Given the description of an element on the screen output the (x, y) to click on. 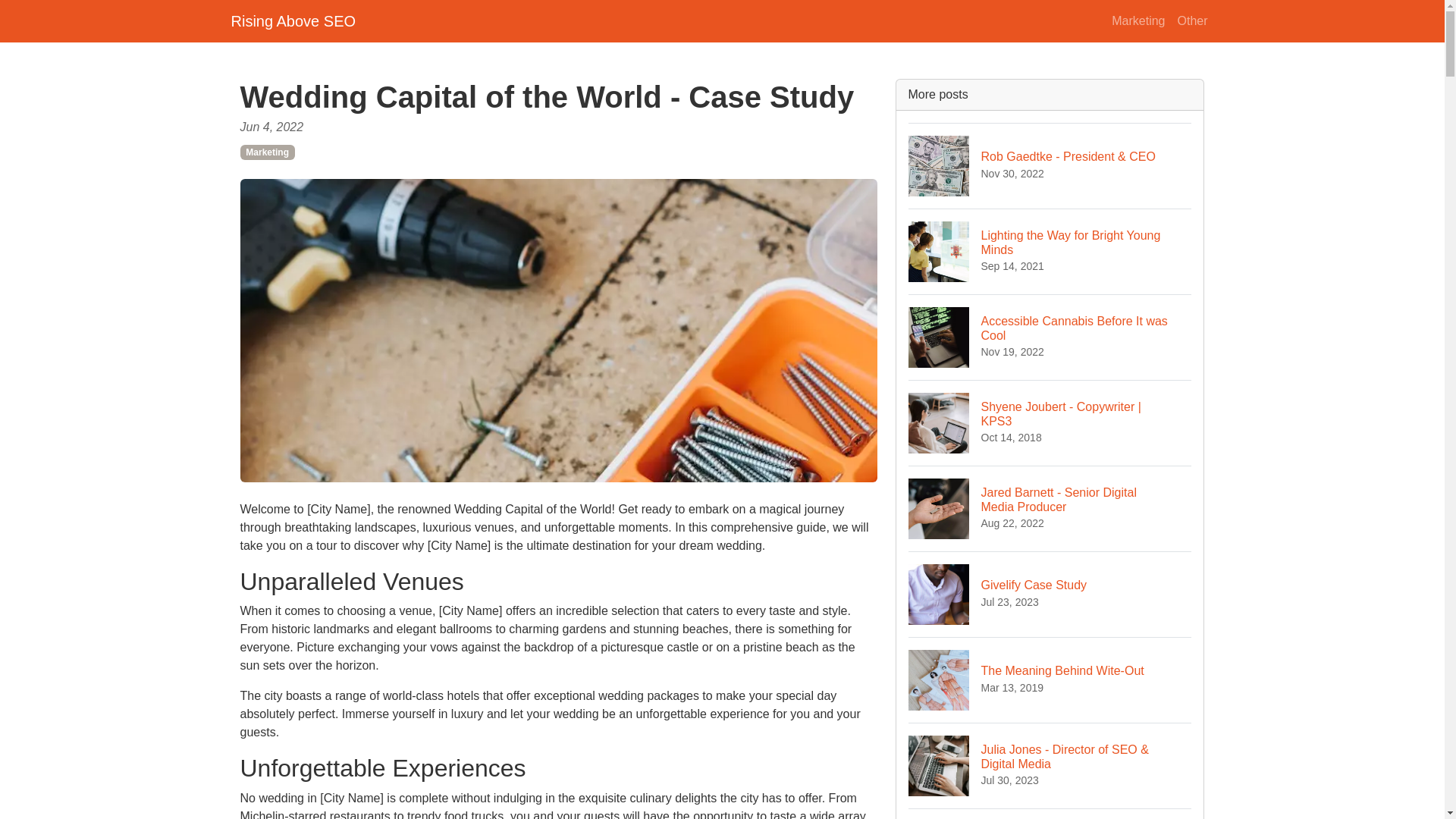
Other (1050, 508)
Rising Above SEO (1050, 251)
Marketing (1050, 594)
Marketing (1191, 20)
